Given the description of an element on the screen output the (x, y) to click on. 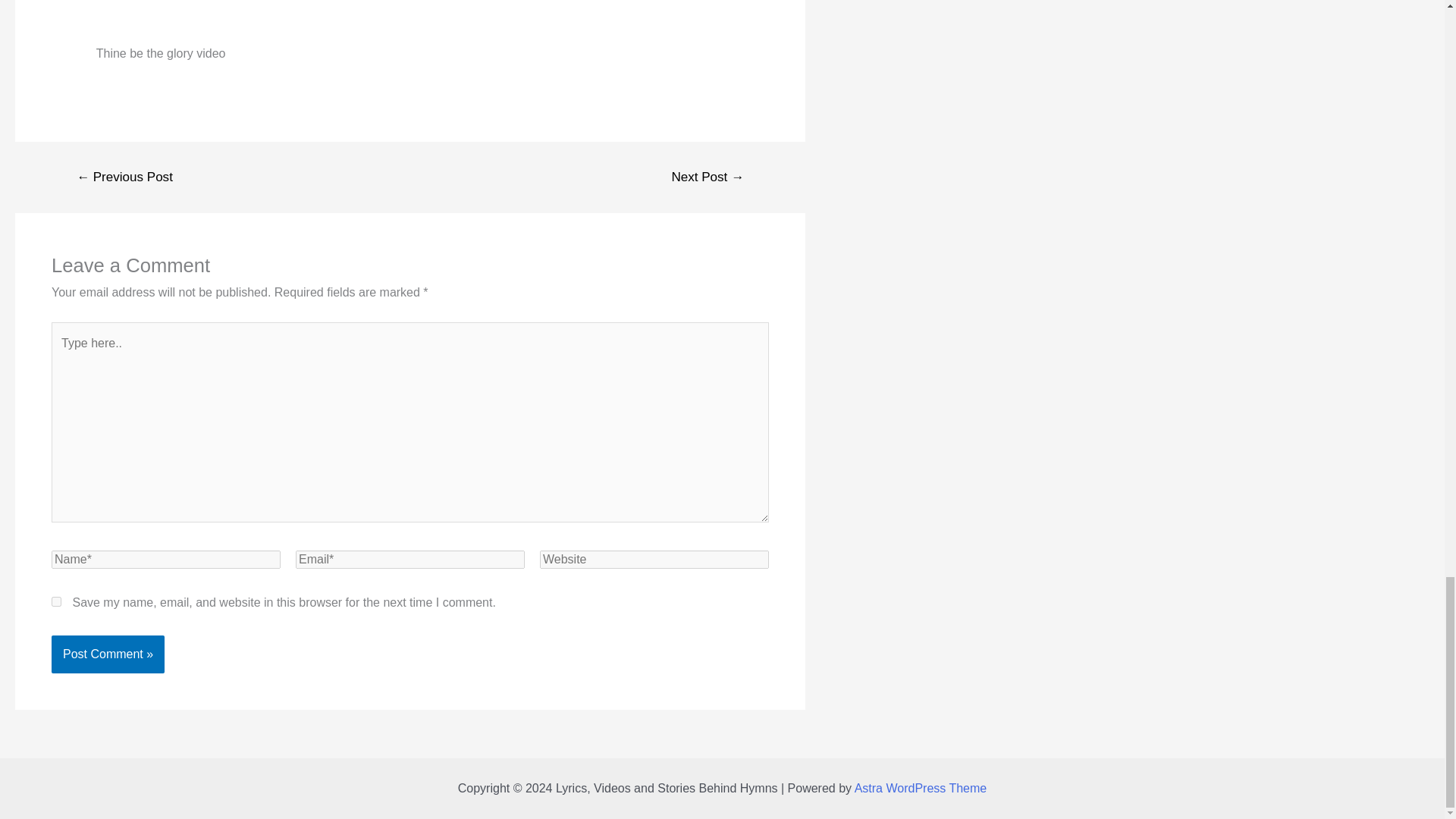
yes (55, 601)
Thine be the glory Risen conquering Son (410, 18)
